Given the description of an element on the screen output the (x, y) to click on. 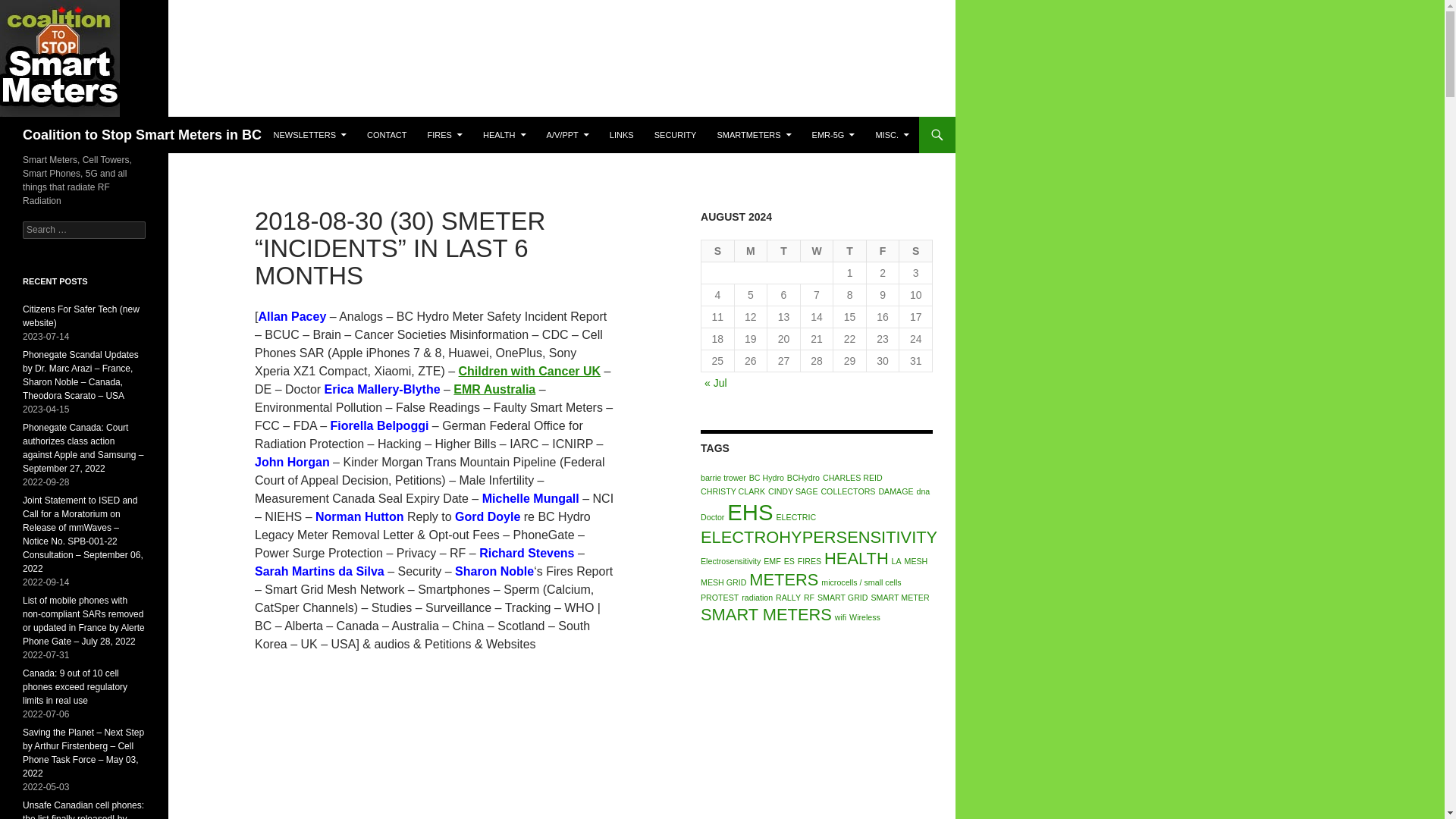
Tuesday (783, 251)
Coalition to Stop Smart Meters in BC (142, 135)
Wednesday (817, 251)
NEWSLETTERS (309, 135)
Friday (882, 251)
Thursday (849, 251)
Monday (751, 251)
Sunday (718, 251)
